Given the description of an element on the screen output the (x, y) to click on. 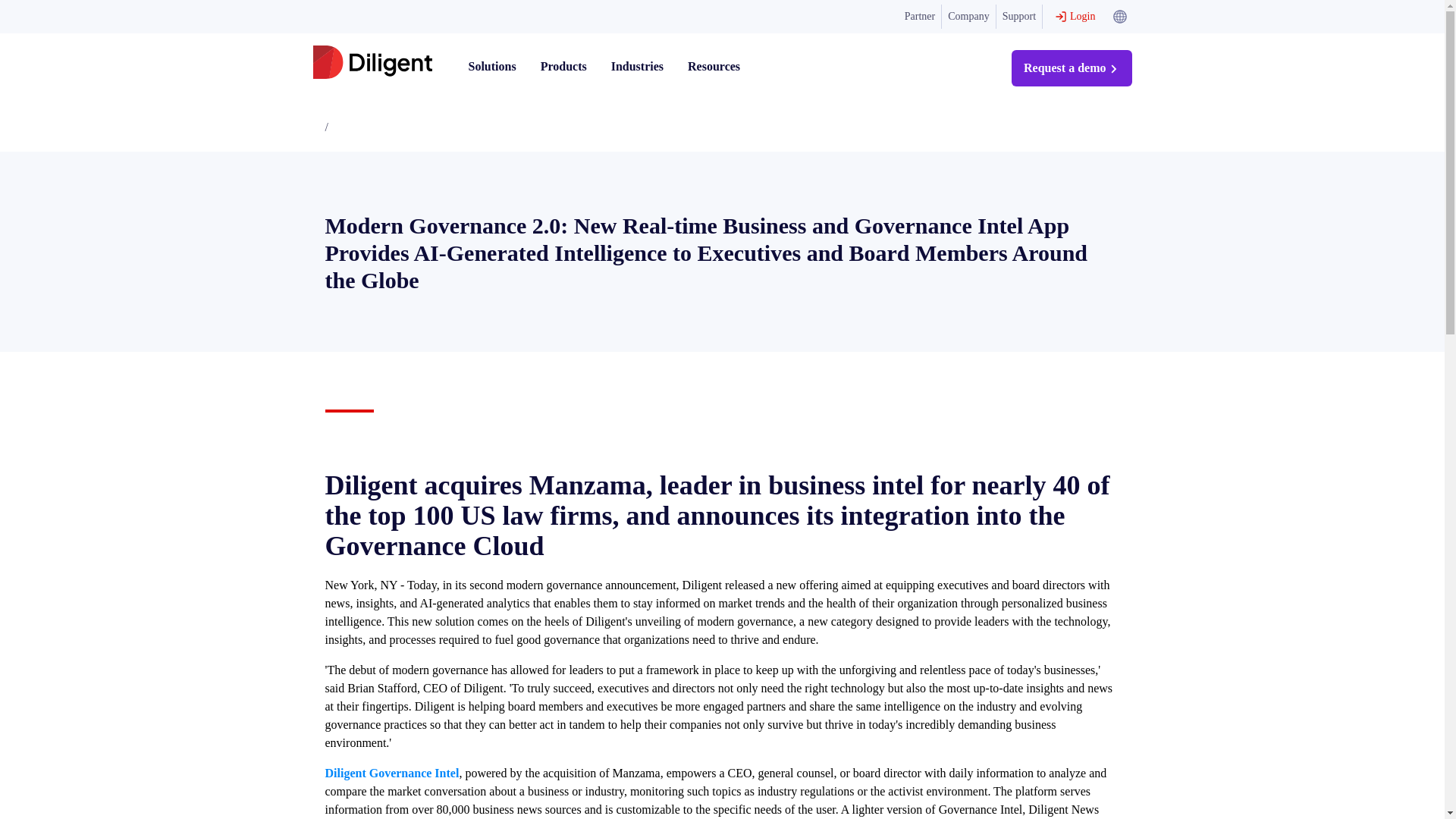
Partner (920, 16)
Request a demo (1071, 67)
Diligent Governance Intel (391, 772)
Support (1018, 16)
Company (968, 16)
Login (1074, 16)
